Given the description of an element on the screen output the (x, y) to click on. 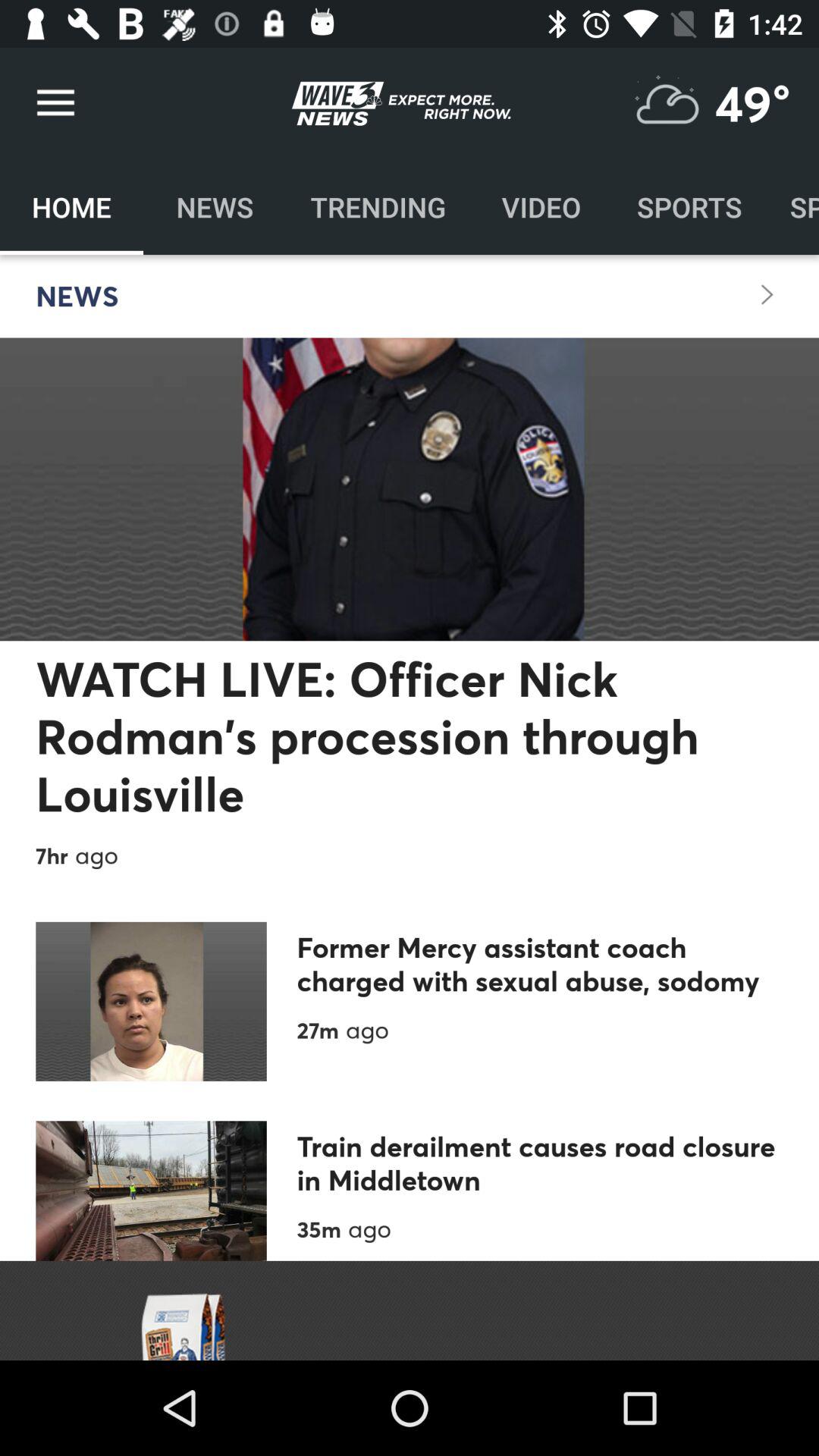
open advertisement (409, 1310)
